Given the description of an element on the screen output the (x, y) to click on. 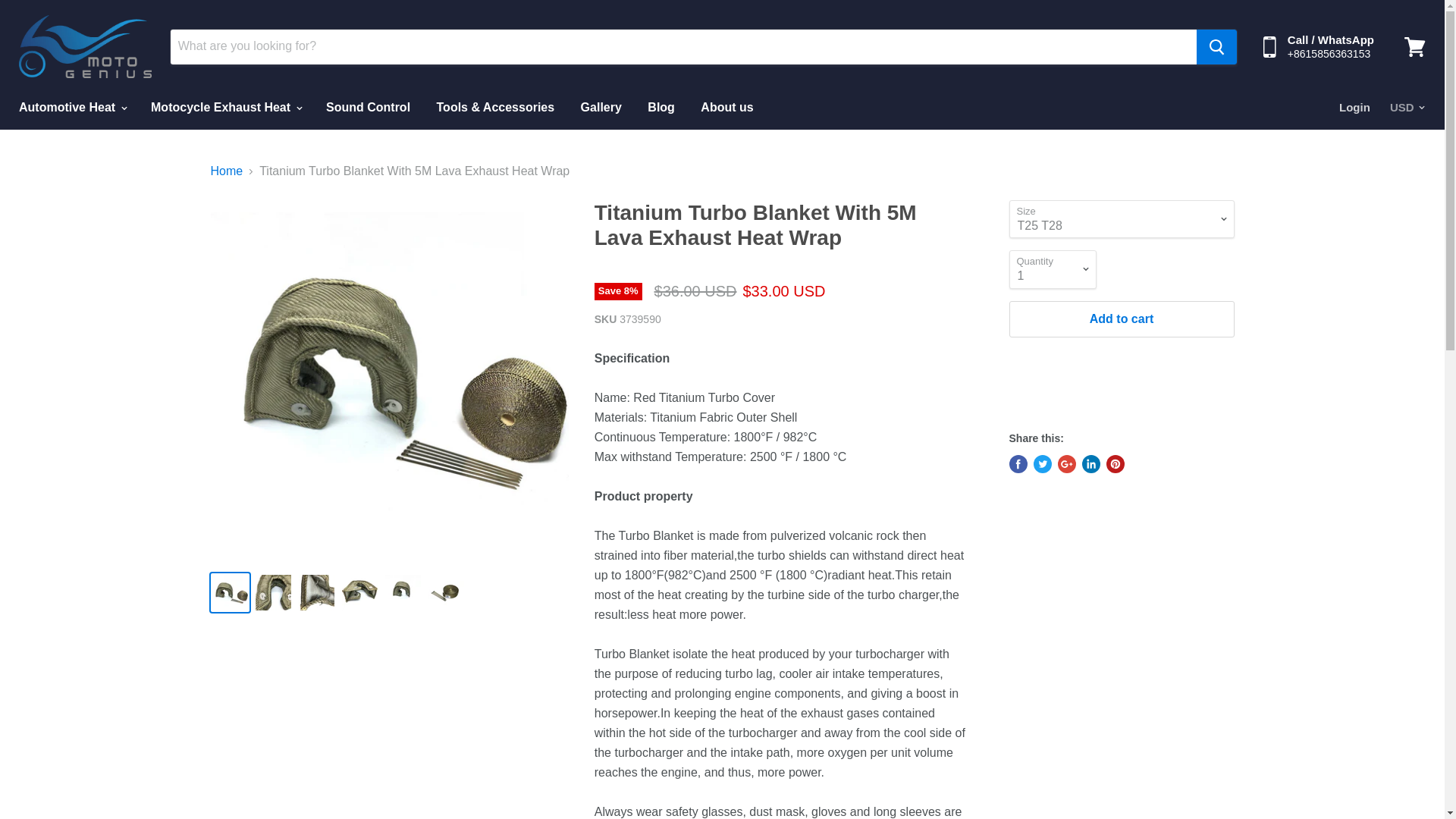
Gallery (601, 107)
Automotive Heat (71, 107)
About us (726, 107)
Motocycle Exhaust Heat (225, 107)
Login (1354, 107)
Blog (660, 107)
View cart (1414, 45)
Sound Control (368, 107)
